Given the description of an element on the screen output the (x, y) to click on. 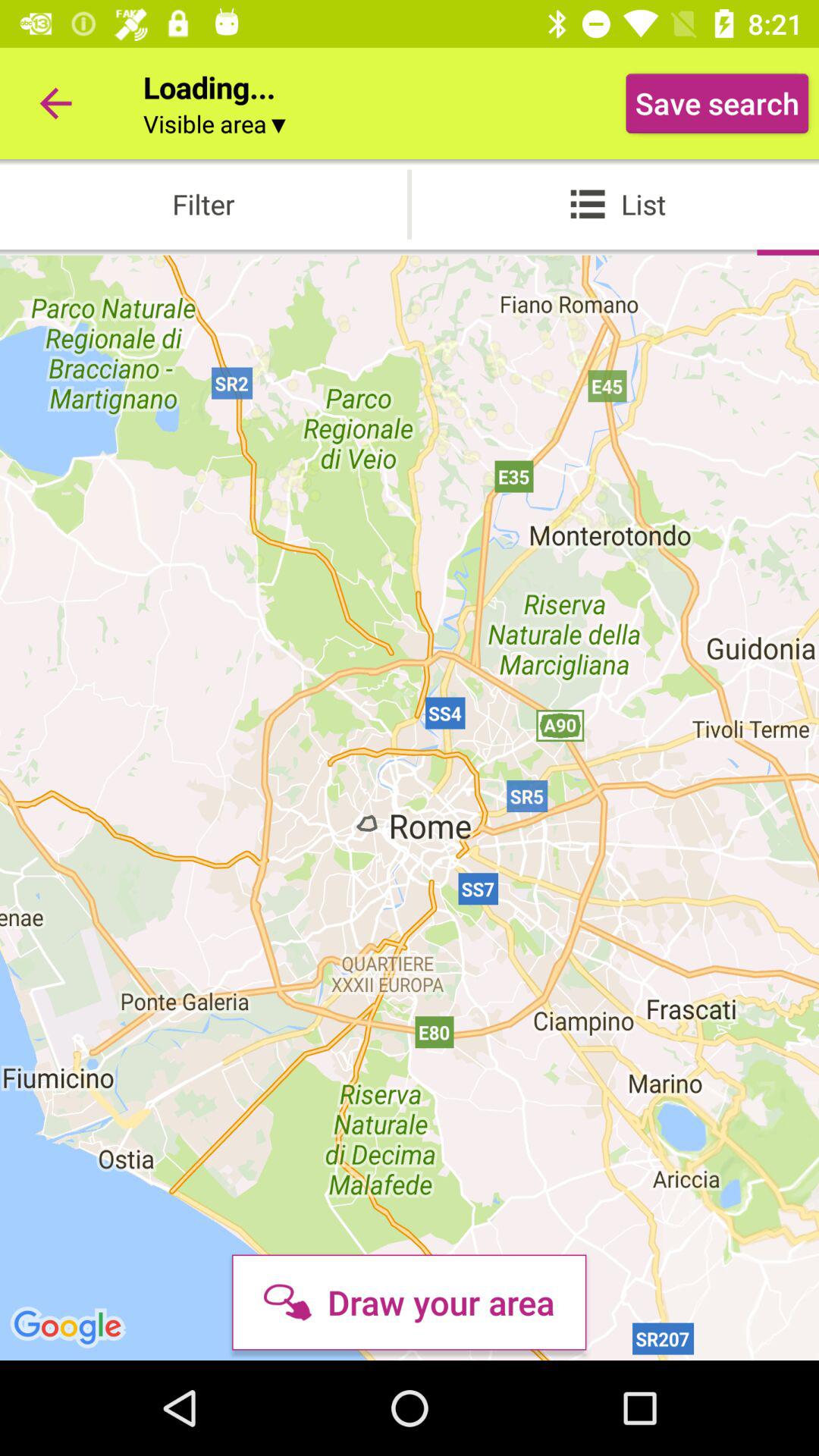
choose save search icon (717, 103)
